Given the description of an element on the screen output the (x, y) to click on. 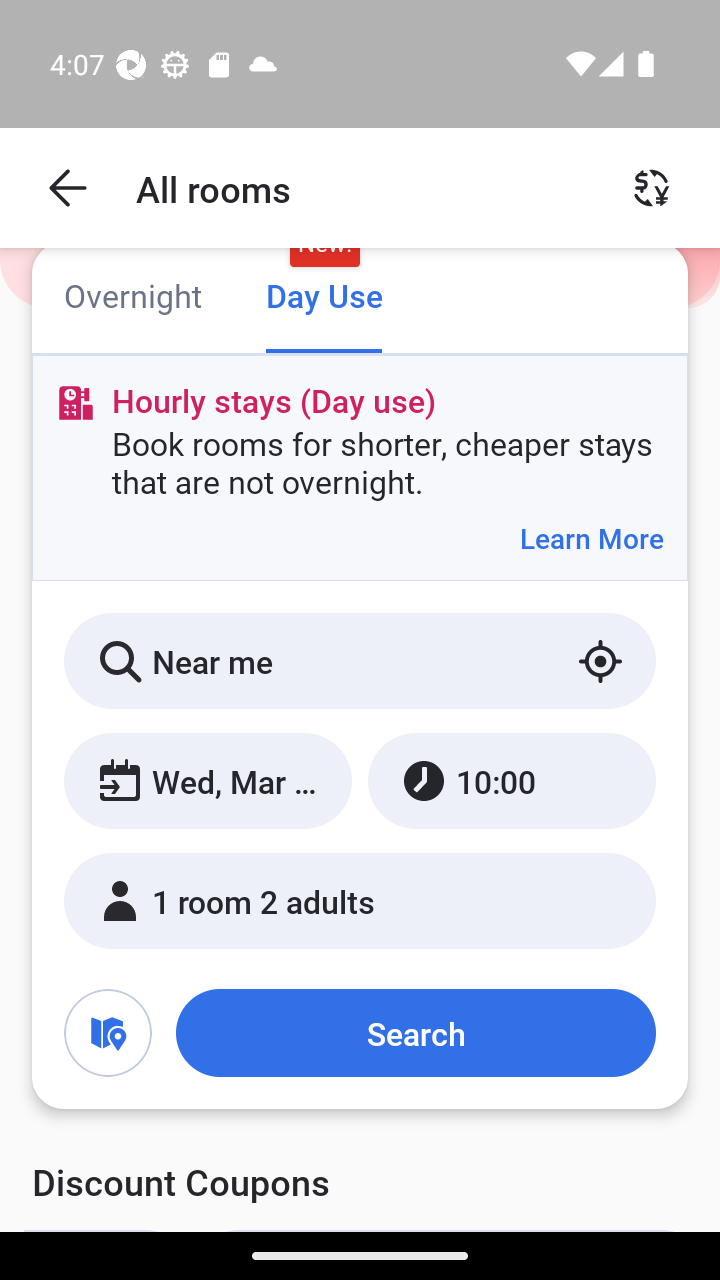
Overnight (132, 298)
Learn More (591, 538)
Near me (359, 661)
Wed, Mar 13 (208, 781)
10:00 (511, 781)
1 room 2 adults (359, 900)
Search (415, 1033)
